Given the description of an element on the screen output the (x, y) to click on. 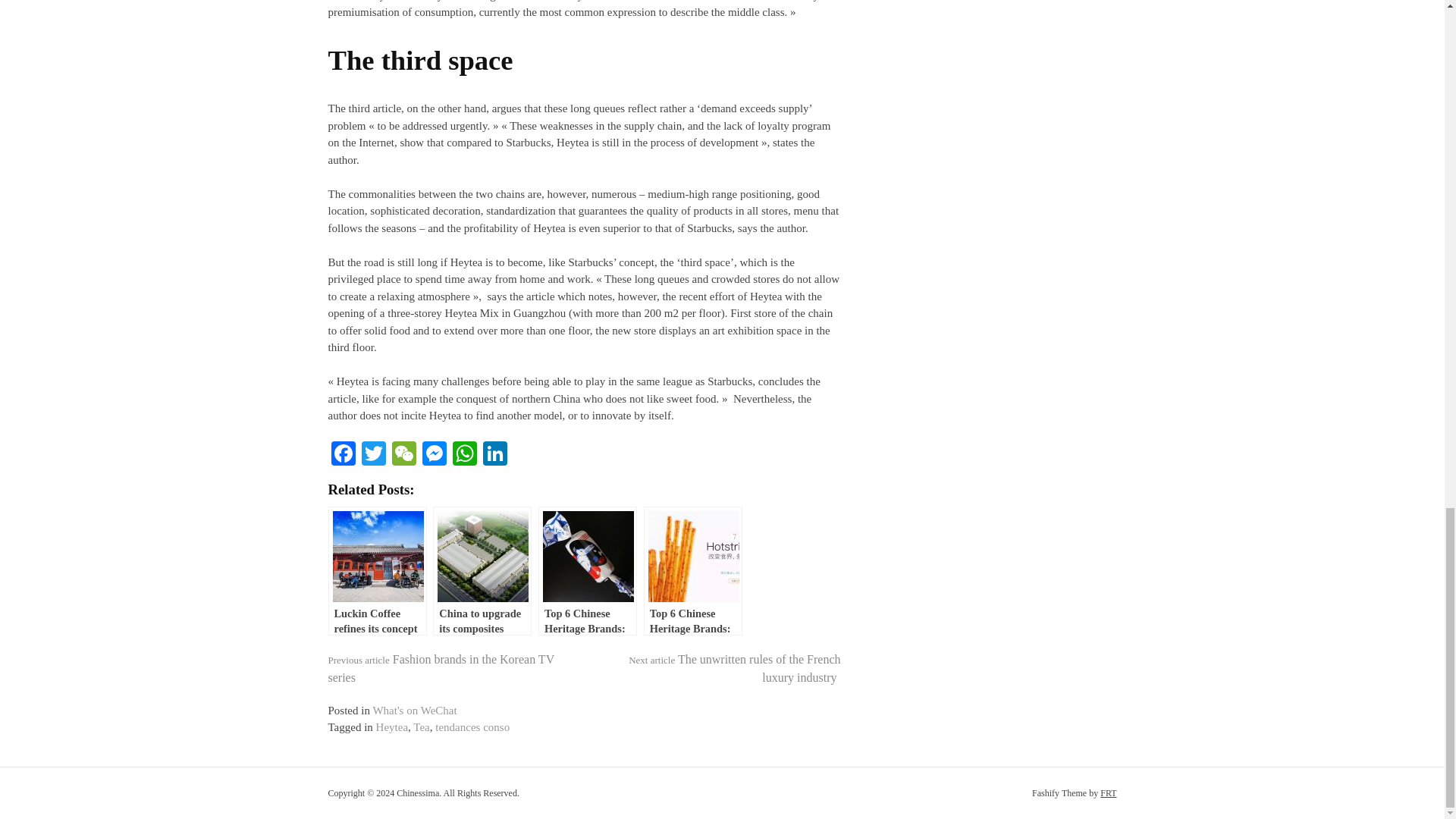
Previous article Fashion brands in the Korean TV series (440, 667)
What's on WeChat (414, 710)
Facebook (342, 455)
Tea (421, 727)
WeChat (403, 455)
WhatsApp (463, 455)
LinkedIn (494, 455)
tendances conso (472, 727)
Messenger (433, 455)
Twitter (373, 455)
WhatsApp (463, 455)
Twitter (373, 455)
LinkedIn (494, 455)
Heytea (391, 727)
